Given the description of an element on the screen output the (x, y) to click on. 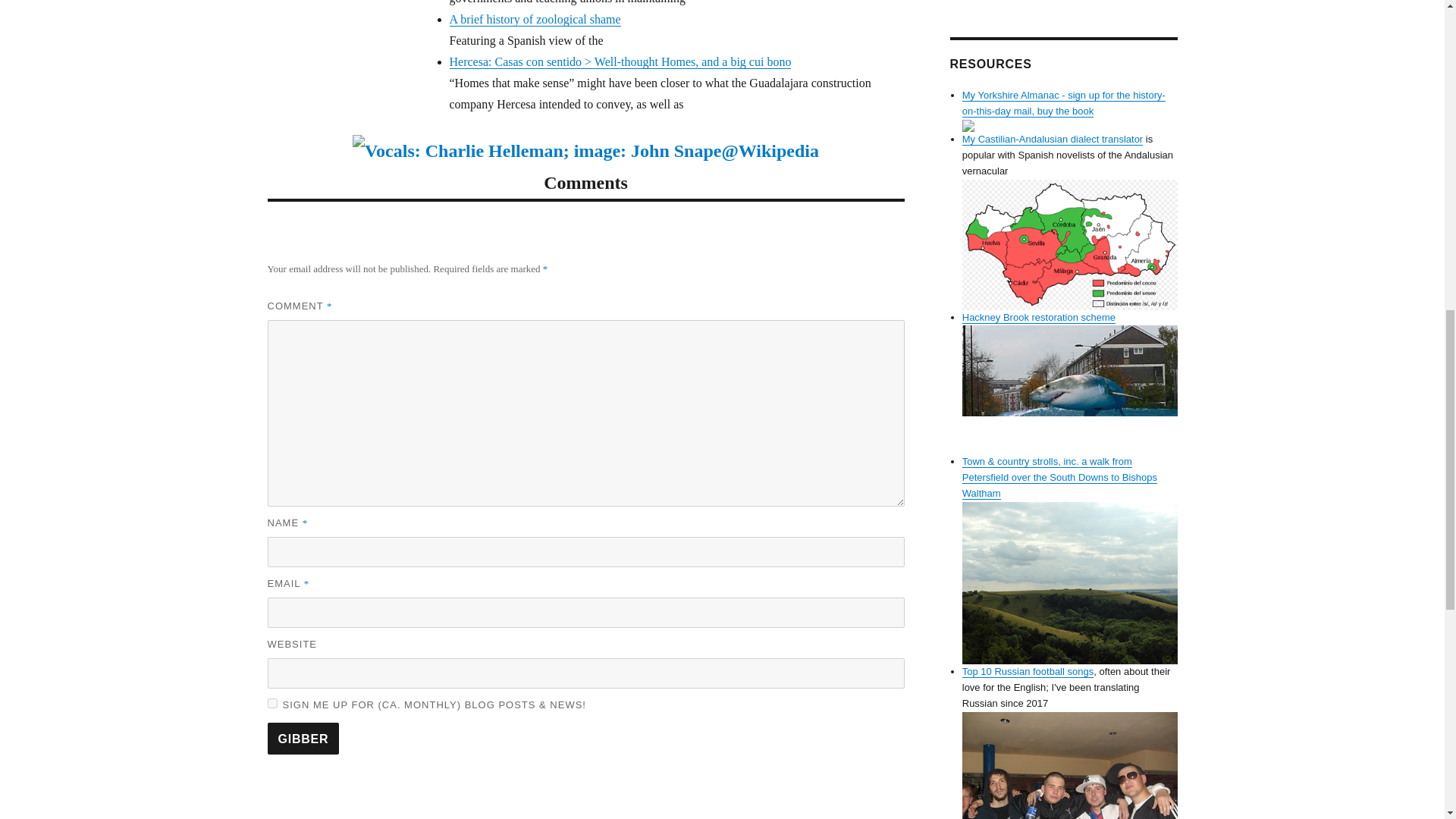
Gibber (302, 738)
A brief history of zoological shame (534, 19)
1 (271, 703)
